Given the description of an element on the screen output the (x, y) to click on. 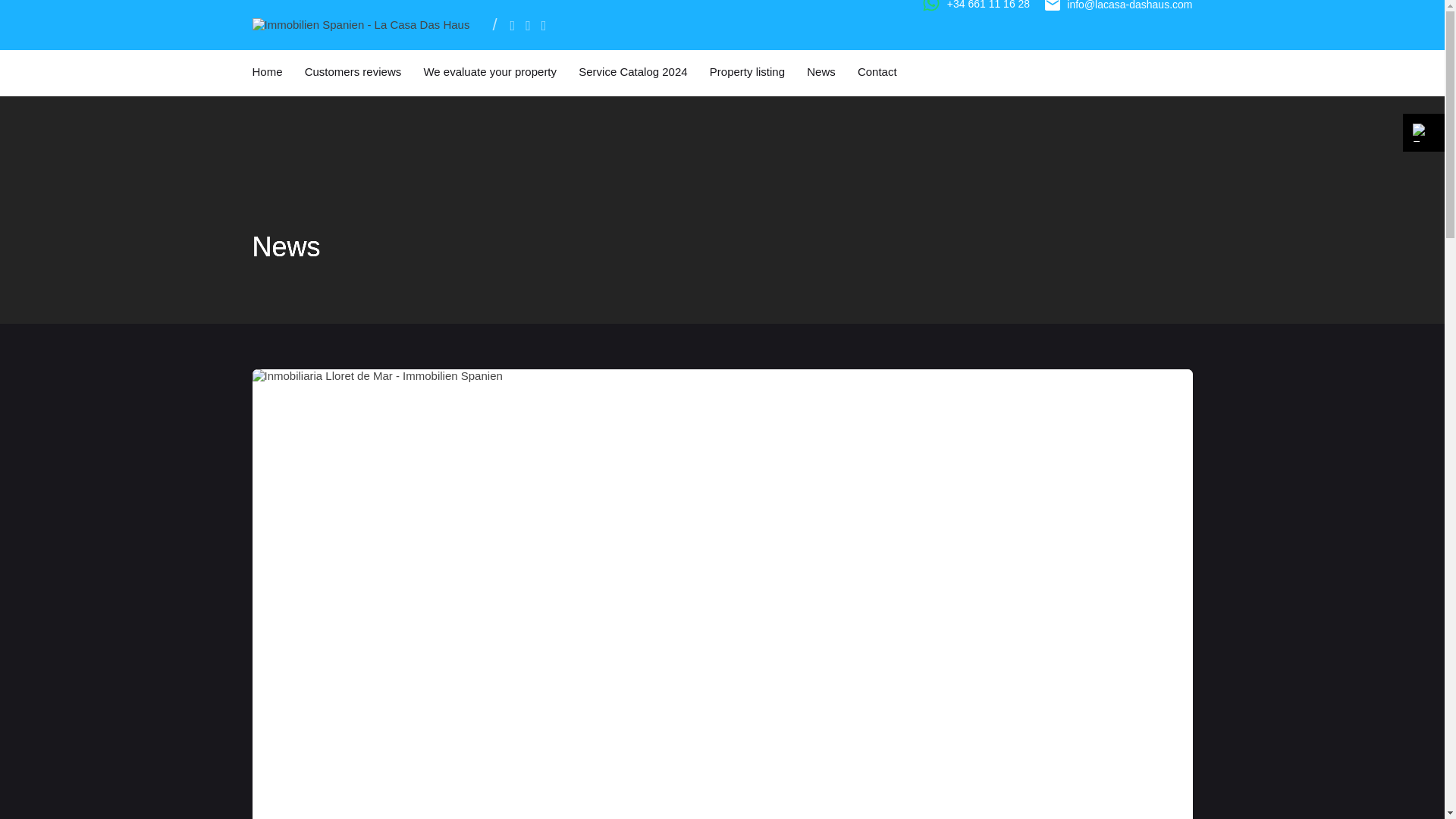
Service Catalog 2024 (632, 71)
We evaluate your property (489, 71)
Customers reviews (352, 71)
Property listing (747, 71)
Contact (876, 71)
